Given the description of an element on the screen output the (x, y) to click on. 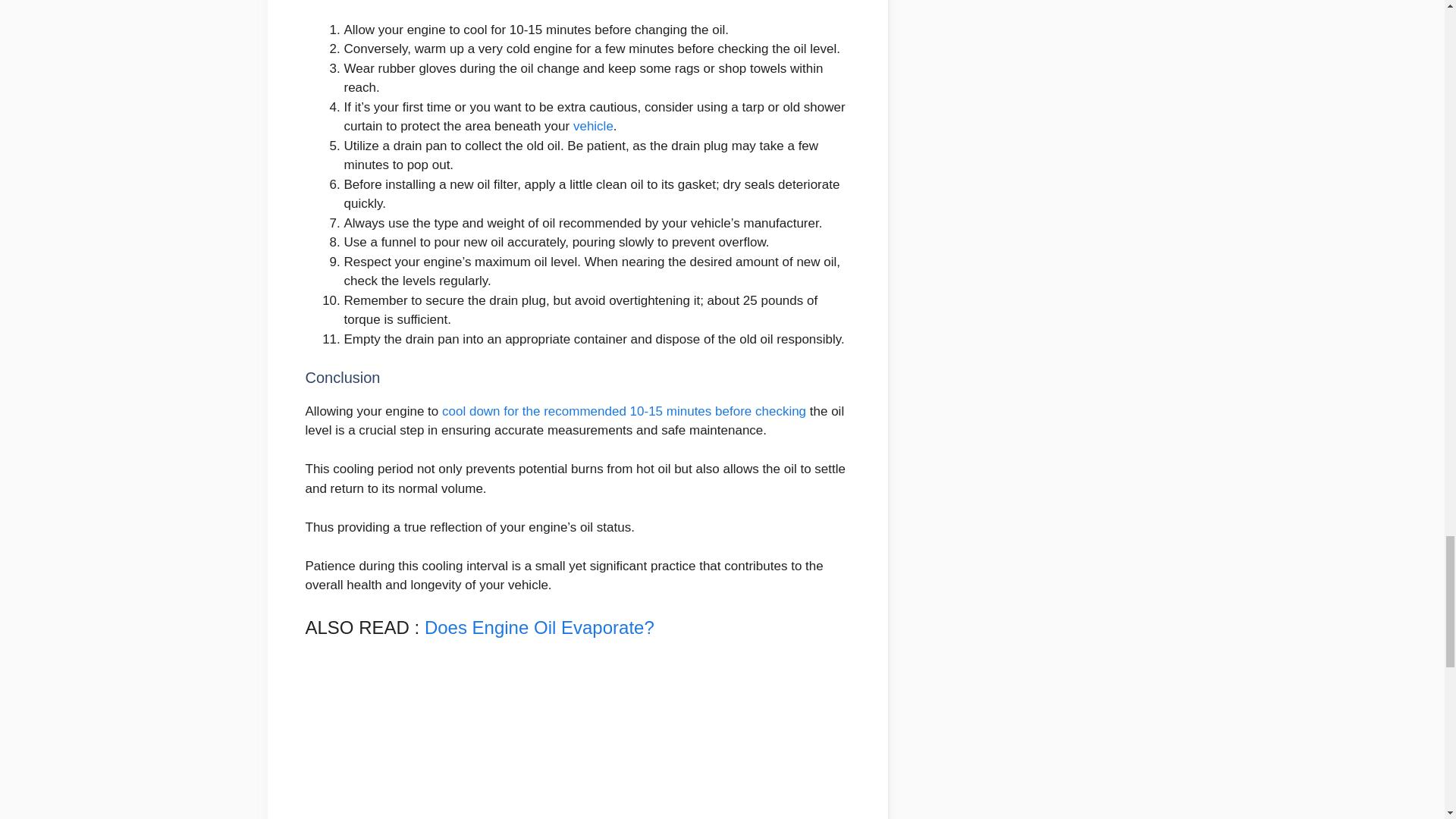
cool down for the recommended 10-15 minutes before checking (624, 411)
vehicle (592, 125)
Does Engine Oil Evaporate? (539, 627)
